Given the description of an element on the screen output the (x, y) to click on. 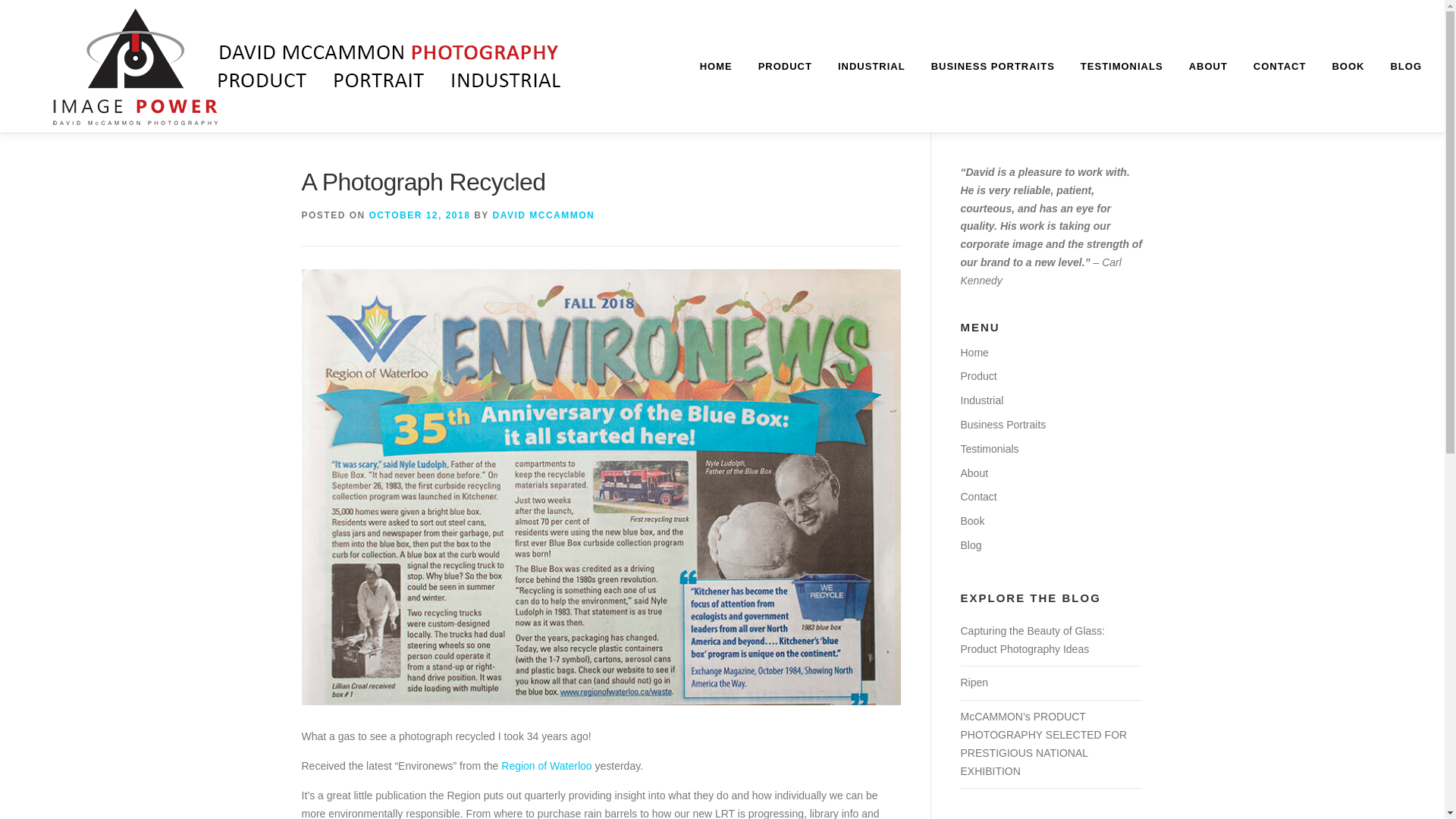
Testimonials (988, 449)
Product (977, 376)
About (973, 472)
Book (971, 521)
Industrial (981, 399)
Blog (970, 544)
Home (973, 352)
Capturing the Beauty of Glass: Product Photography Ideas (1032, 639)
BUSINESS PORTRAITS (992, 66)
Ripen (973, 682)
